Given the description of an element on the screen output the (x, y) to click on. 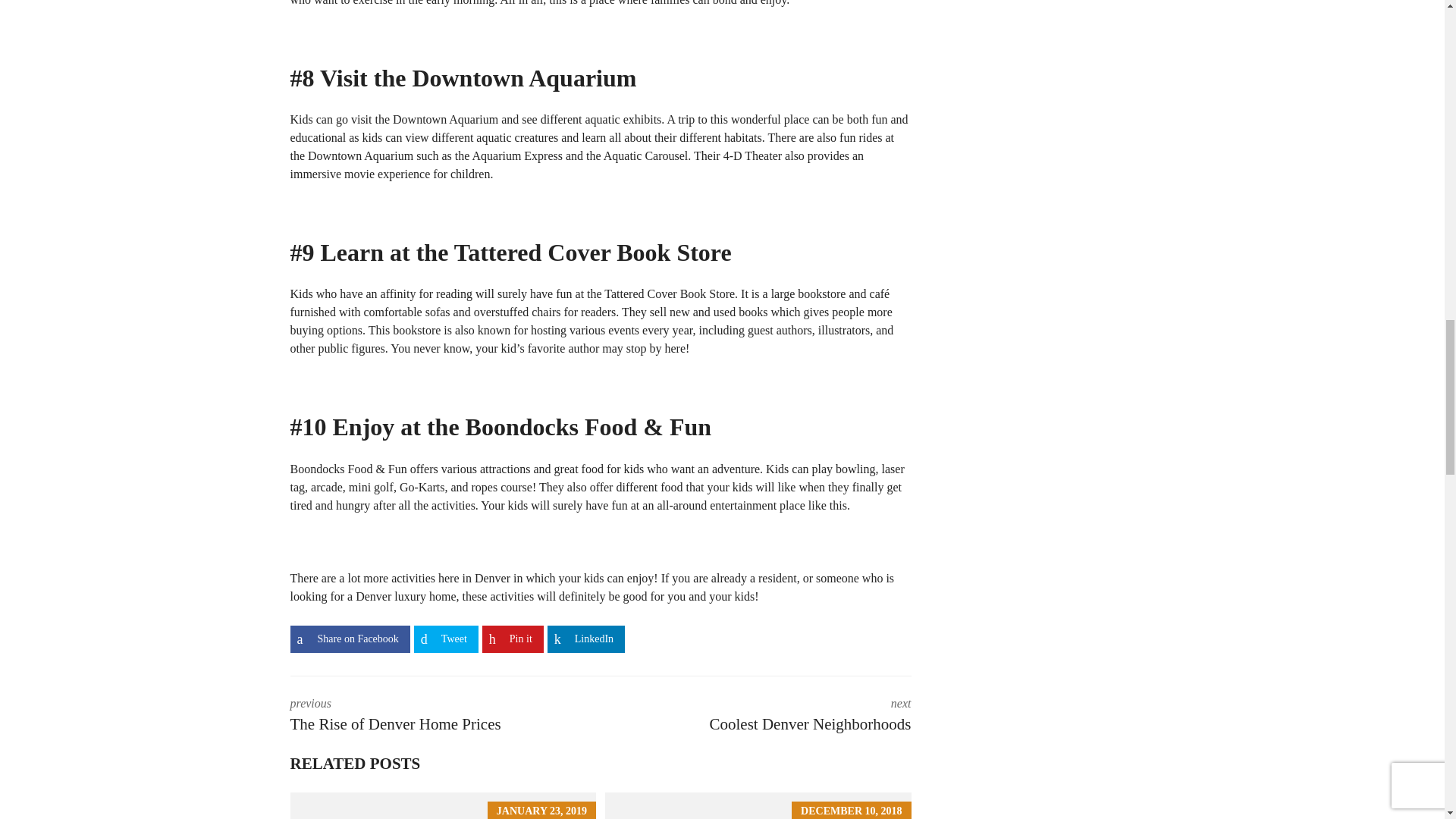
Share on Share on Facebook (349, 638)
Share on Pin it (512, 638)
Share on Tweet (446, 638)
Share on LinkedIn (585, 638)
